Given the description of an element on the screen output the (x, y) to click on. 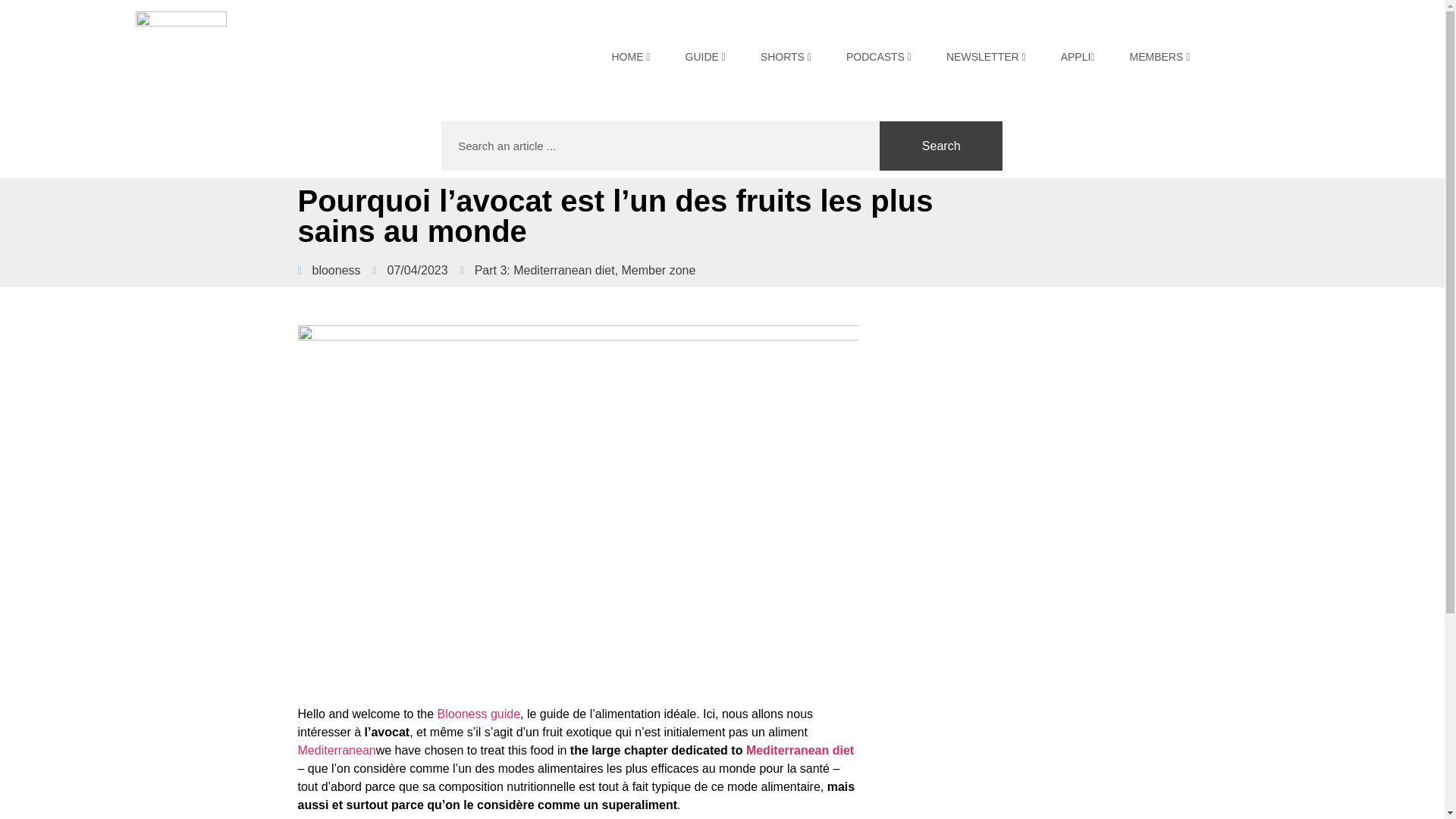
Mediterranean diet (799, 749)
Member zone (658, 269)
Blooness guide (478, 713)
blooness (328, 270)
Search (941, 145)
Part 3: Mediterranean diet (544, 269)
Mediterranean (336, 749)
